Given the description of an element on the screen output the (x, y) to click on. 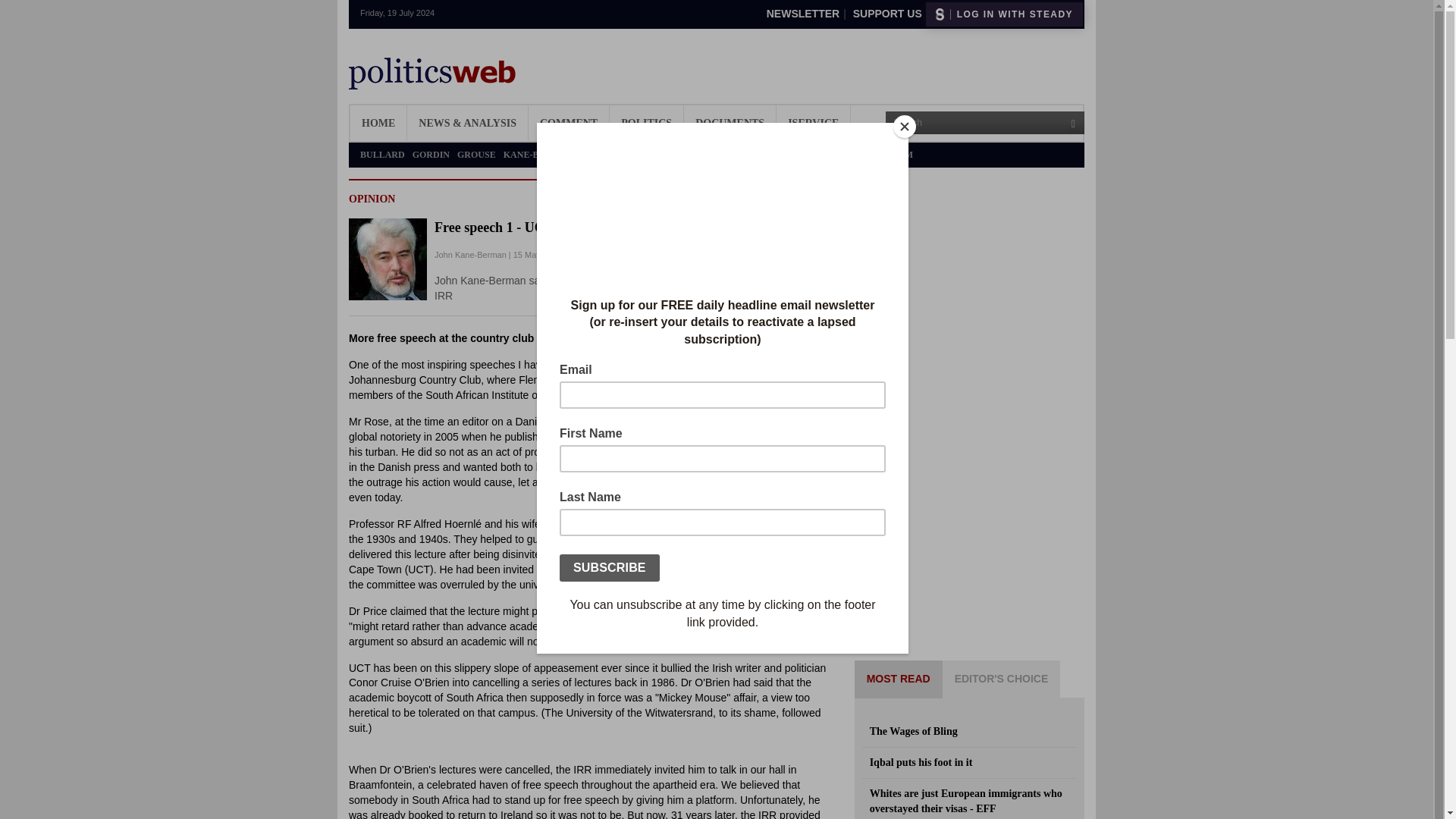
MAJOZI (598, 154)
POLITICS (646, 122)
GROUSE (476, 154)
COMMENT (568, 122)
EDITOR'S CHOICE (1001, 679)
DOCUMENTS (730, 122)
WSM (900, 154)
The Wages of Bling (969, 731)
PoliticsWeb Home (432, 73)
STRAIGHT TALK (731, 154)
NEWSLETTER (802, 13)
HOME (378, 122)
GORDIN (430, 154)
RW JOHNSON (654, 154)
BULLARD (381, 154)
